Given the description of an element on the screen output the (x, y) to click on. 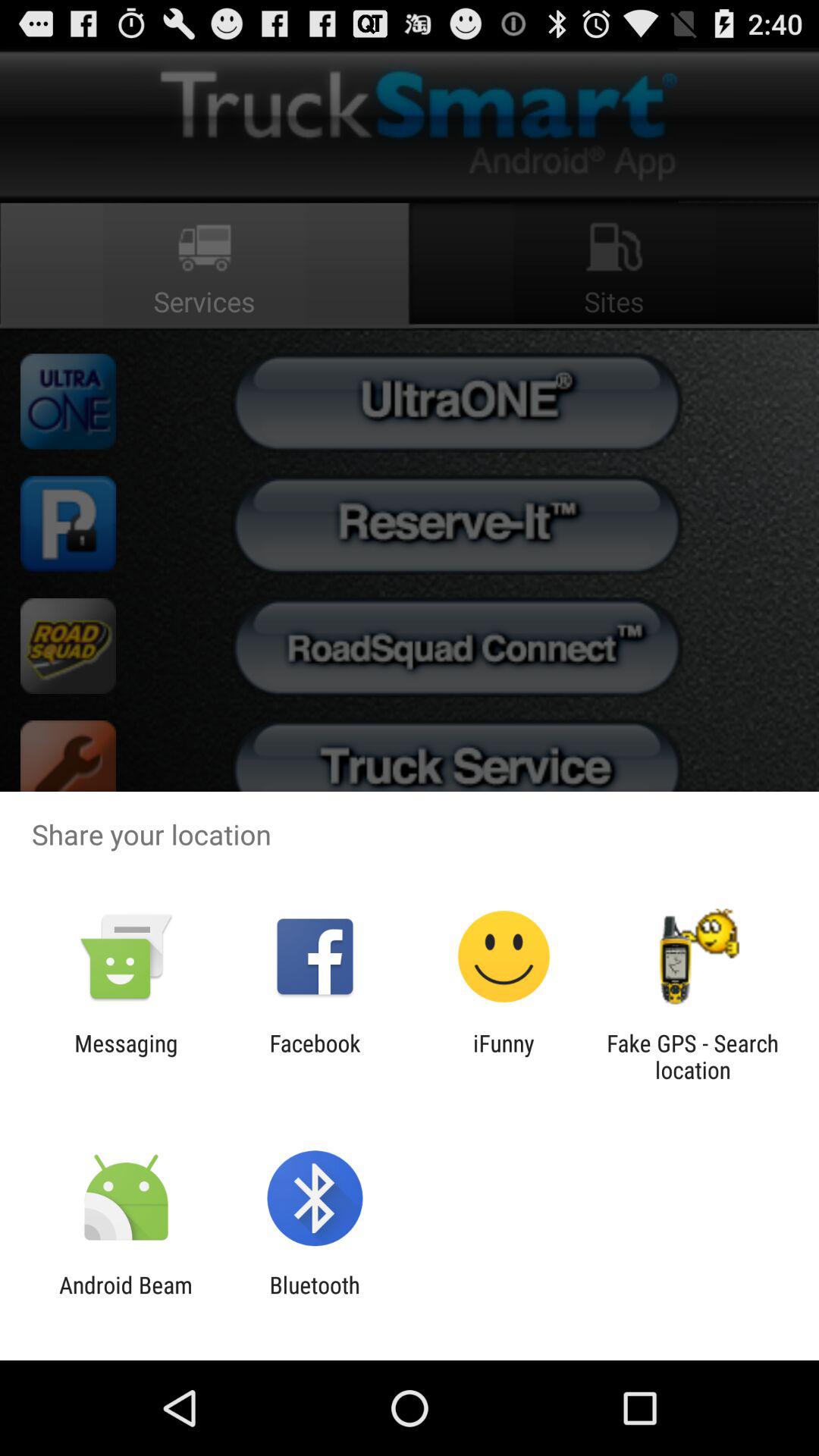
tap item to the left of facebook (126, 1056)
